Given the description of an element on the screen output the (x, y) to click on. 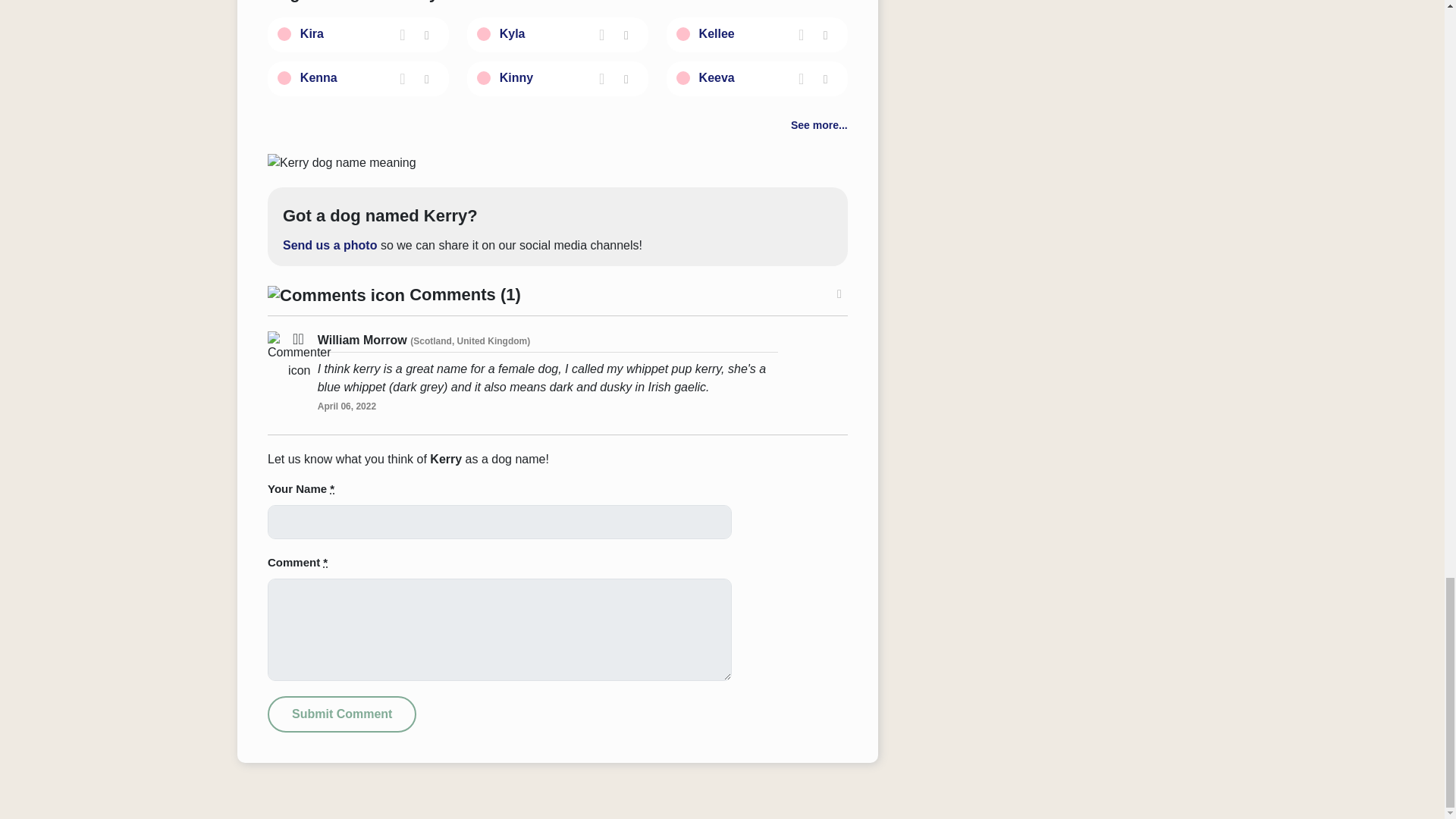
Kenna (318, 77)
Keeva (716, 77)
Kyla (512, 33)
Kinny (515, 77)
Send us a photo (329, 245)
Submit Comment (341, 714)
See more... (818, 124)
Kira (311, 33)
Kellee (716, 33)
Submit Comment (341, 714)
